Given the description of an element on the screen output the (x, y) to click on. 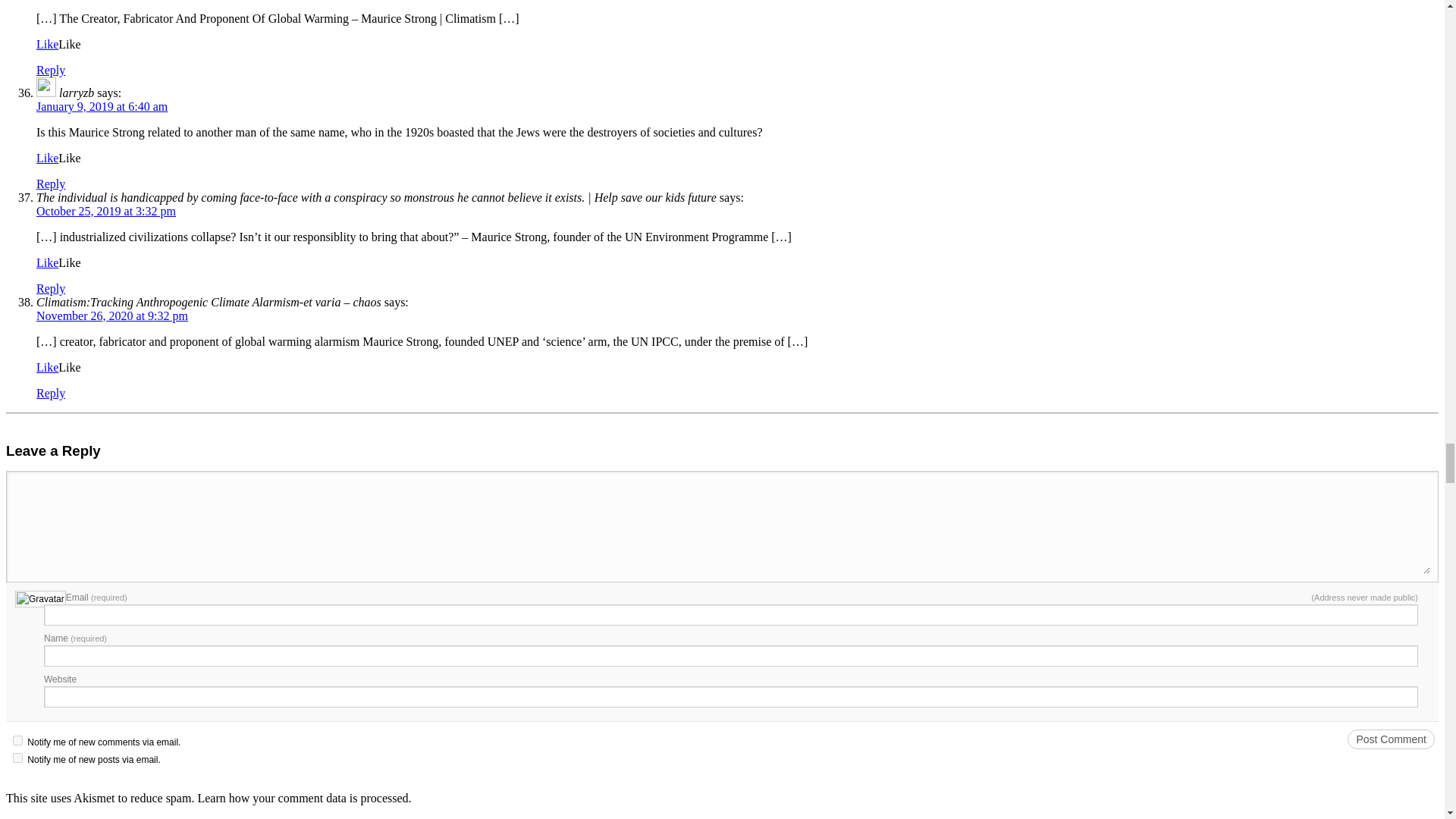
subscribe (18, 740)
subscribe (18, 757)
